Given the description of an element on the screen output the (x, y) to click on. 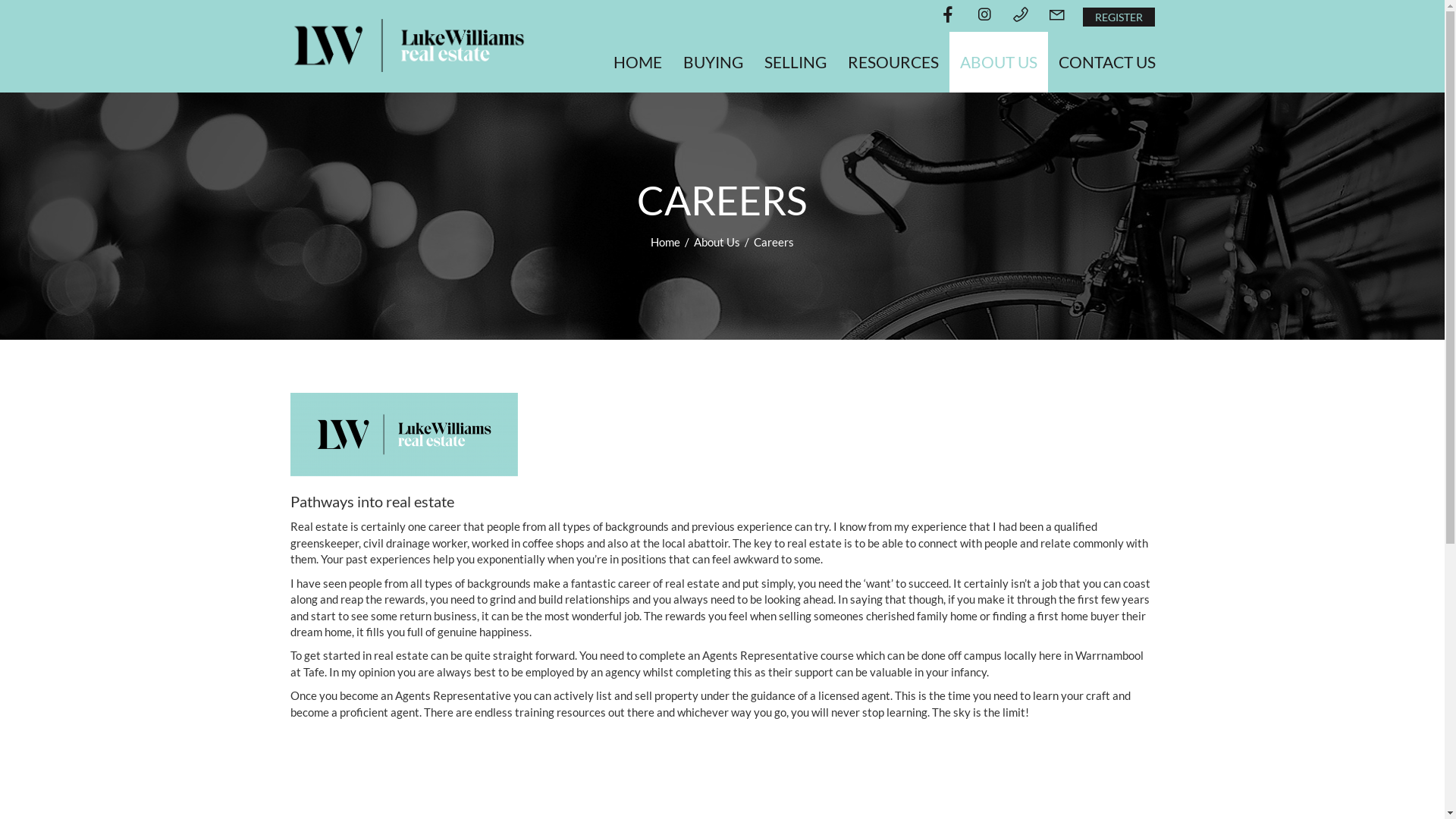
HOME Element type: text (636, 61)
ABOUT US Element type: text (998, 61)
BUYING Element type: text (712, 61)
SELLING Element type: text (795, 61)
Home Element type: text (666, 241)
REGISTER Element type: text (1118, 16)
CONTACT US Element type: text (1107, 61)
About Us Element type: text (717, 241)
RESOURCES Element type: text (893, 61)
